Given the description of an element on the screen output the (x, y) to click on. 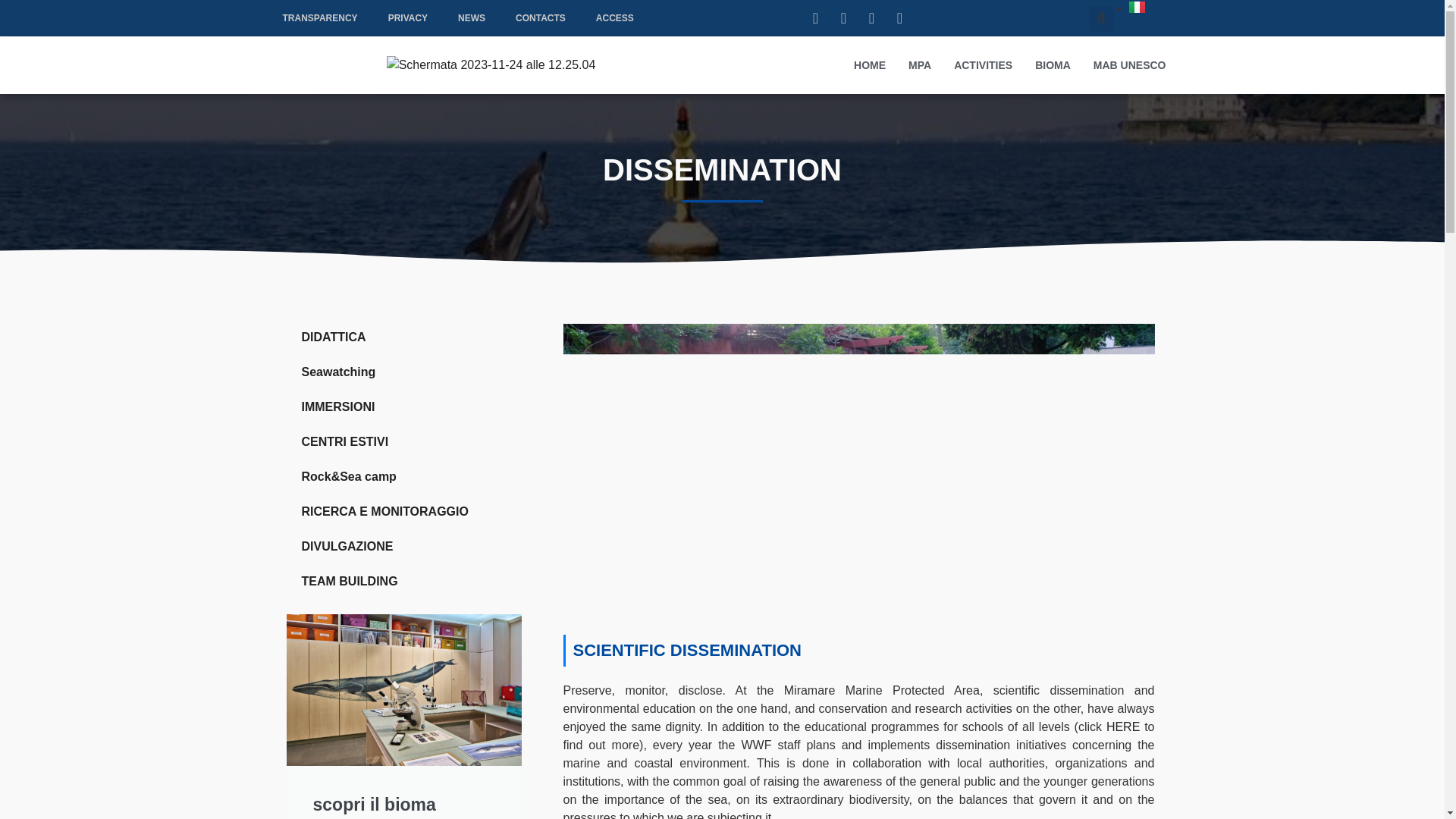
CONTACTS (540, 18)
Schermata 2023-11-24 alle 12.25.04 (491, 65)
MPA (919, 64)
NEWS (471, 18)
PRIVACY (407, 18)
TRANSPARENCY (319, 18)
ACCESS (614, 18)
HOME (869, 64)
ACTIVITIES (982, 64)
